Given the description of an element on the screen output the (x, y) to click on. 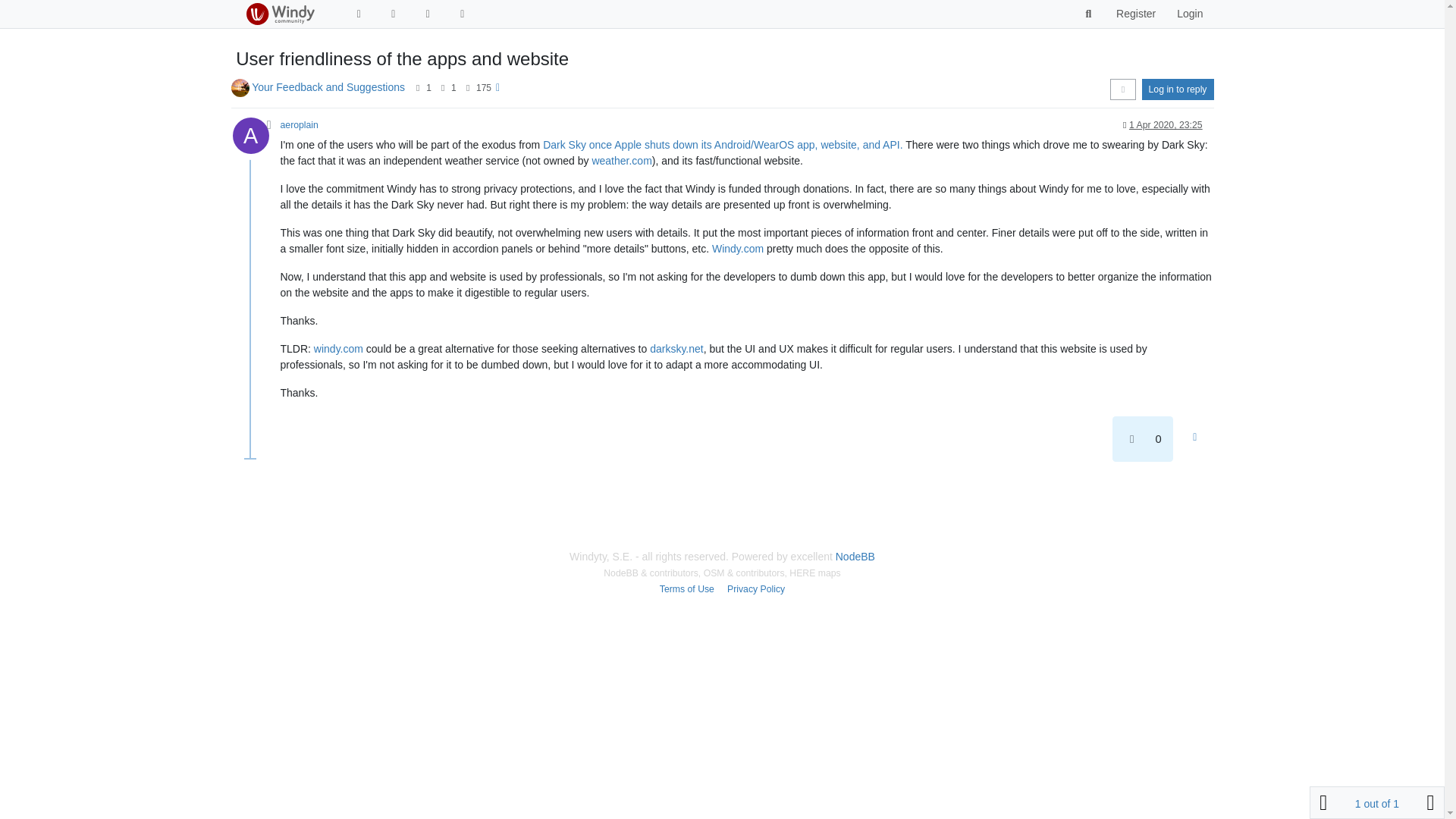
aeroplain (299, 124)
Go to windy.com (462, 13)
A (255, 139)
weather.com (620, 160)
Login (1189, 13)
darksky.net (676, 348)
Windy Community (279, 13)
Unread (357, 13)
Your Feedback and Suggestions (327, 87)
Search (1088, 14)
Posts (443, 87)
windy.com (338, 348)
Register (1135, 13)
1 Apr 2020, 23:25 (1165, 124)
Groups (427, 13)
